Given the description of an element on the screen output the (x, y) to click on. 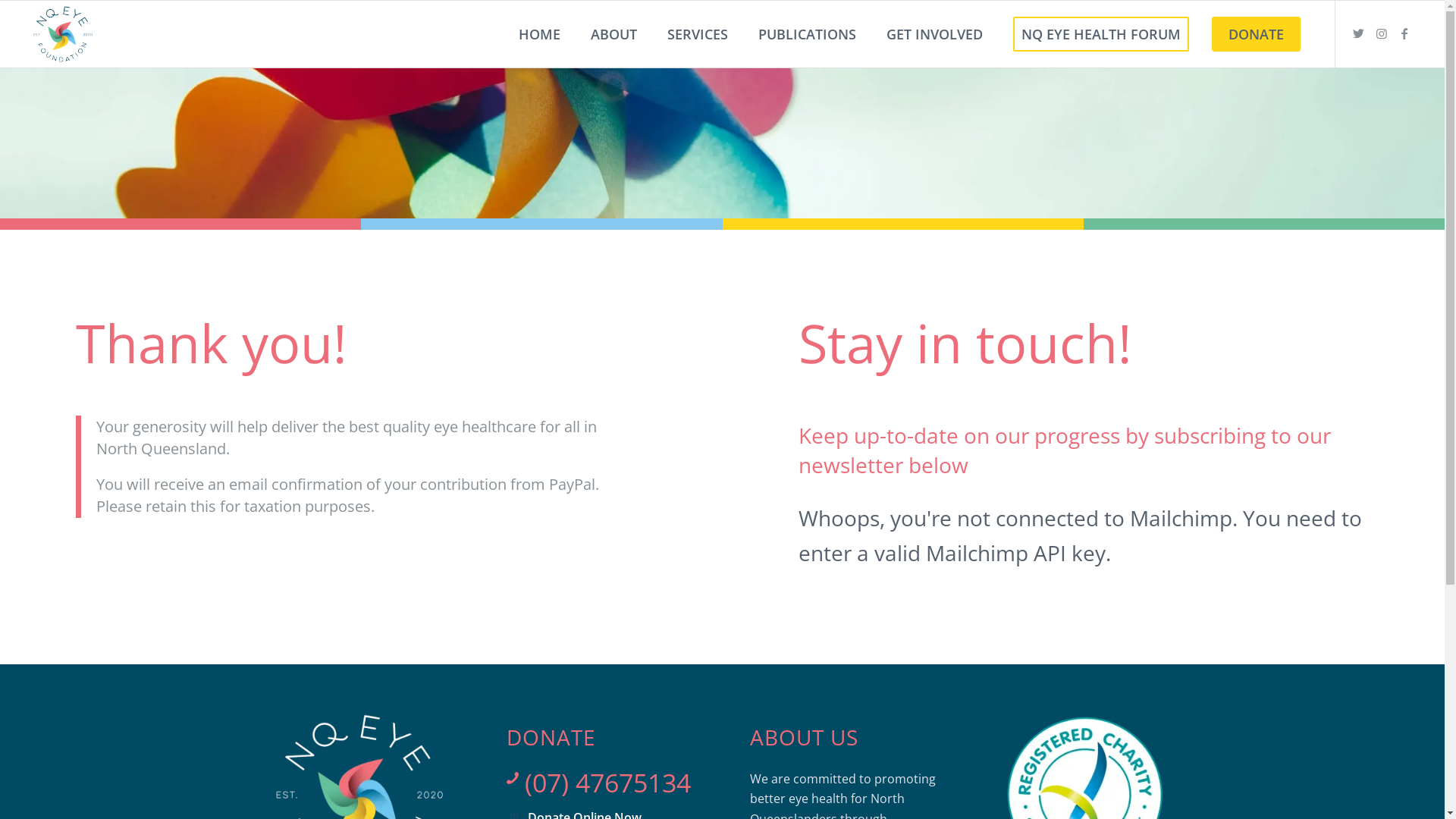
SERVICES Element type: text (697, 33)
DONATE Element type: text (1255, 33)
(07) 47675134 Element type: text (607, 782)
GET INVOLVED Element type: text (934, 33)
ABOUT Element type: text (613, 33)
Instagram Element type: hover (1381, 32)
NQ EYE HEALTH FORUM Element type: text (1100, 33)
Facebook Element type: hover (1404, 32)
PUBLICATIONS Element type: text (807, 33)
Twitter Element type: hover (1358, 32)
HOME Element type: text (539, 33)
